Given the description of an element on the screen output the (x, y) to click on. 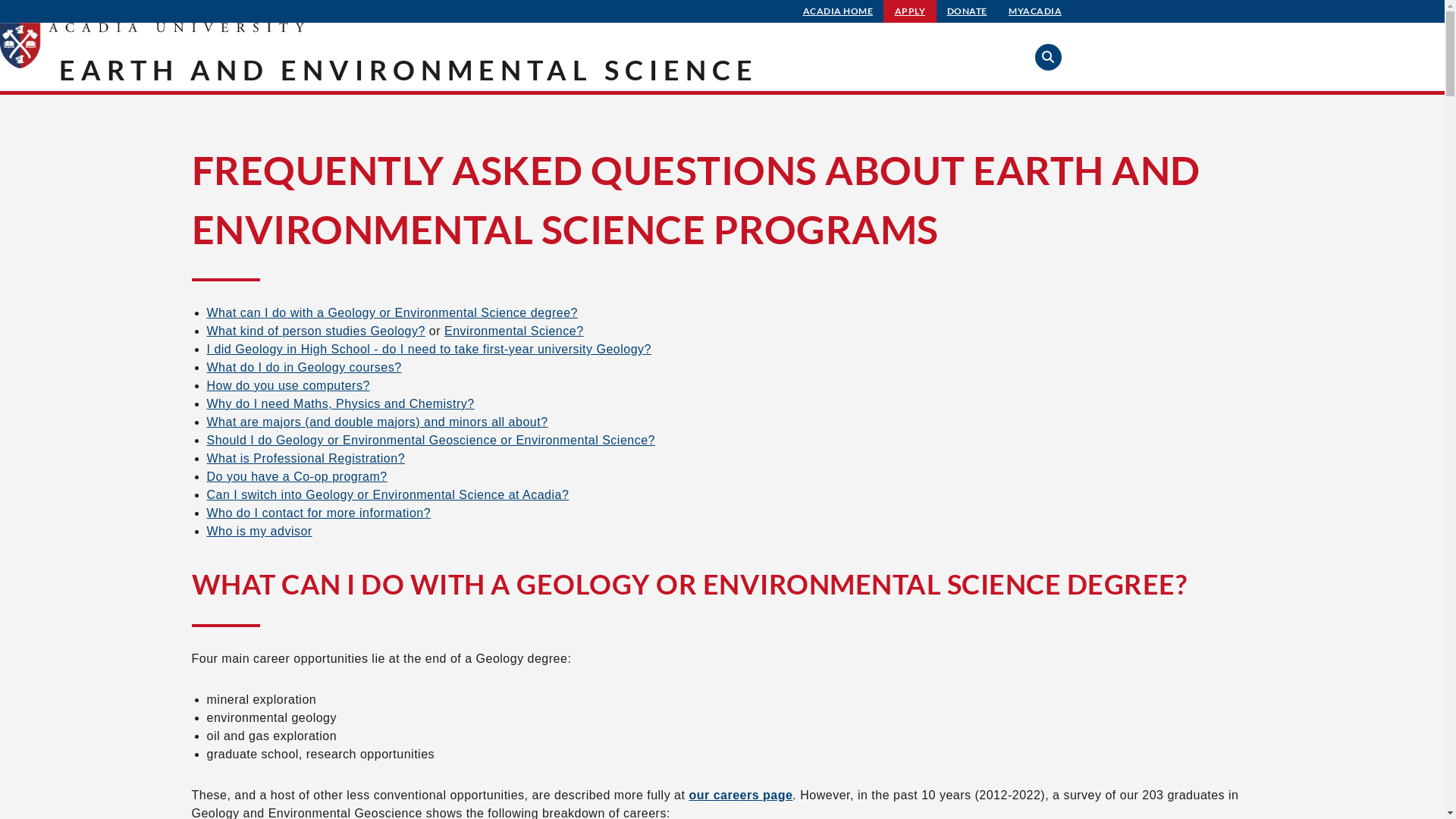
EARTH AND ENVIRONMENTAL SCIENCE Element type: text (408, 69)
DONATE Element type: text (966, 11)
Environmental Science? Element type: text (513, 330)
APPLY Element type: text (909, 11)
Do you have a Co-op program? Element type: text (296, 476)
our careers page Element type: text (740, 794)
MYACADIA Element type: text (1035, 11)
What are majors (and double majors) and minors all about? Element type: text (376, 421)
What kind of person studies Geology? Element type: text (315, 330)
What is Professional Registration? Element type: text (305, 457)
What do I do in Geology courses? Element type: text (303, 366)
Why do I need Maths, Physics and Chemistry? Element type: text (339, 403)
Who do I contact for more information? Element type: text (318, 512)
How do you use computers? Element type: text (287, 385)
Who is my advisor Element type: text (258, 530)
ACADIA HOME Element type: text (837, 11)
